Given the description of an element on the screen output the (x, y) to click on. 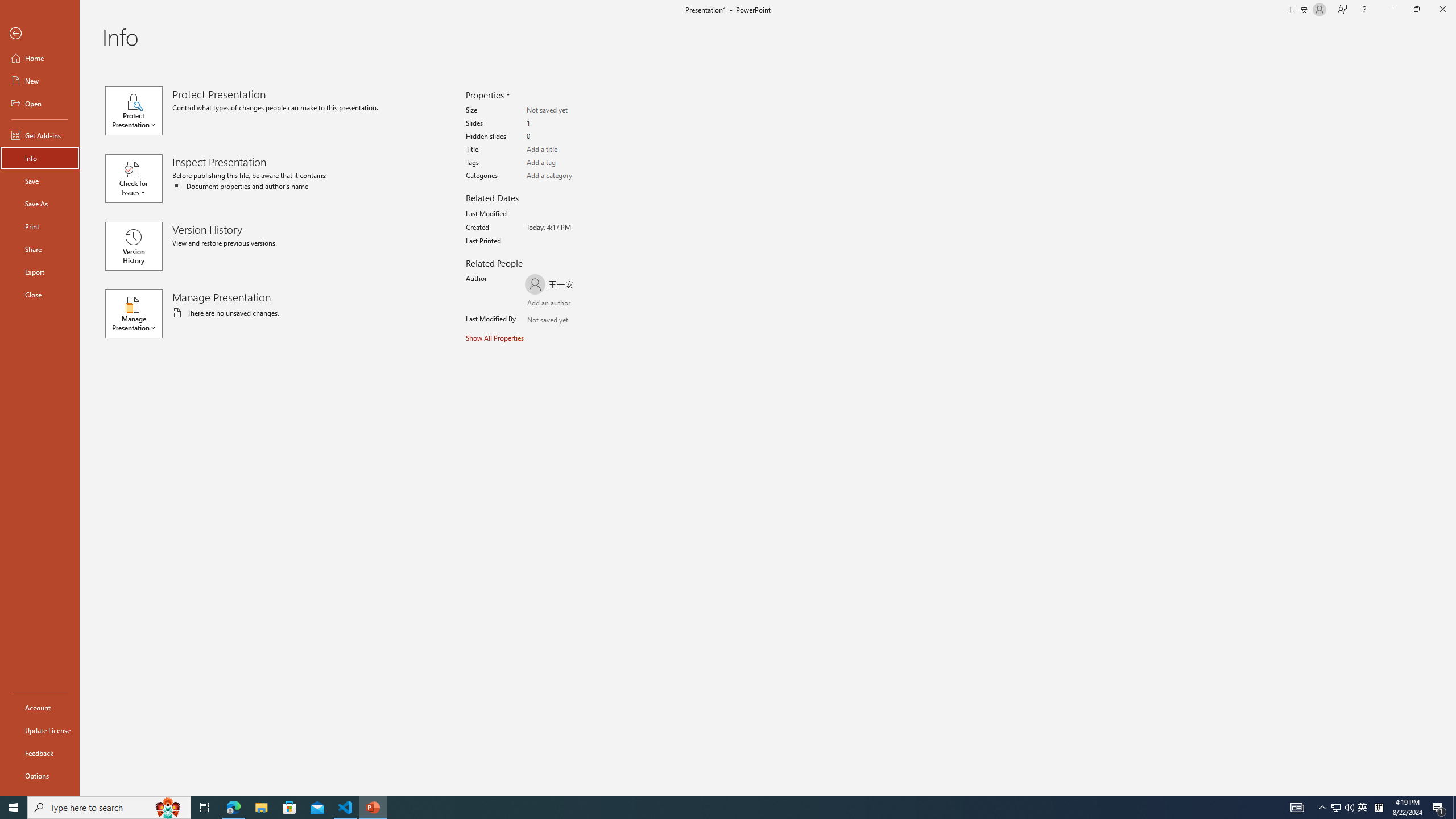
Show All Properties (495, 337)
Print (40, 225)
Title (571, 149)
Update License (40, 730)
Not saved yet (538, 320)
Tags (571, 162)
Slides (571, 123)
Size (571, 110)
Export (40, 271)
Feedback (40, 753)
